Given the description of an element on the screen output the (x, y) to click on. 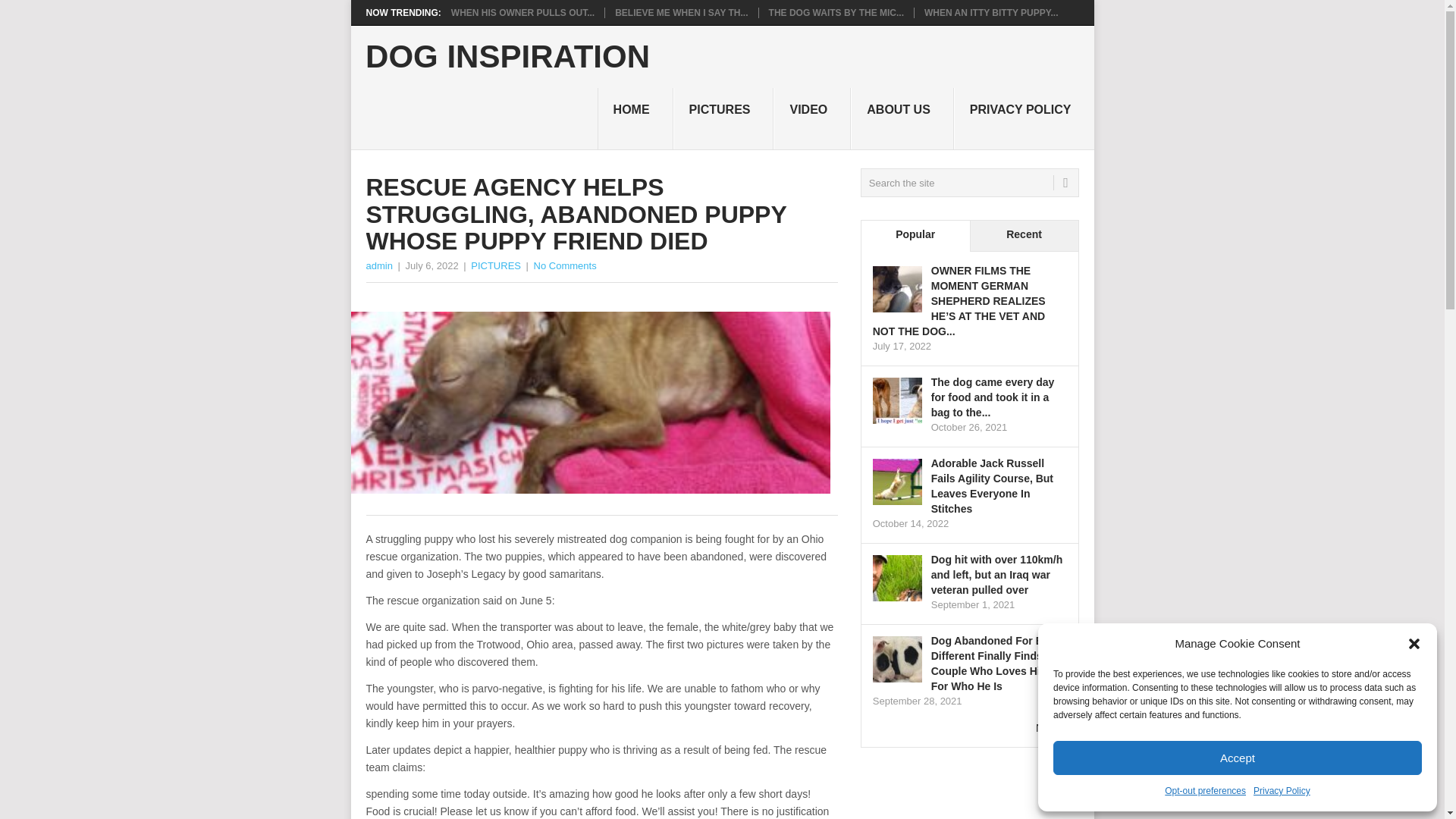
THE DOG WAITS BY THE MIC... (836, 12)
VIDEO (811, 118)
Search the site (969, 182)
ABOUT US (901, 118)
admin (378, 265)
HOME (634, 118)
BELIEVE ME WHEN I SAY TH... (681, 12)
Privacy Policy (1281, 791)
Opt-out preferences (1205, 791)
Posts by admin (378, 265)
DOG INSPIRATION (507, 56)
Recent (1023, 235)
Accept (1237, 757)
